Given the description of an element on the screen output the (x, y) to click on. 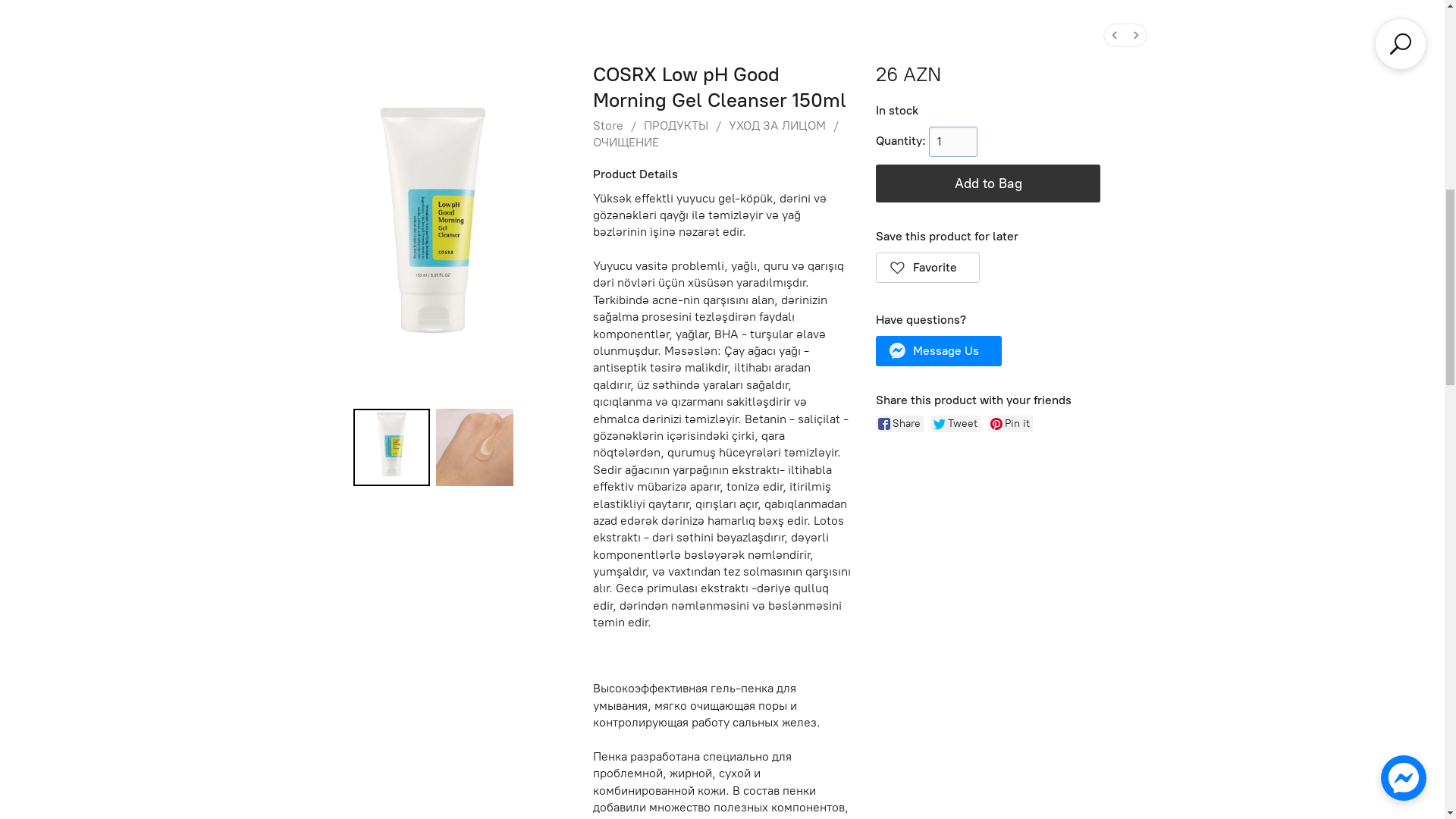
Get directions Element type: text (1342, 26)
+994507000513 Element type: text (1230, 26)
